Given the description of an element on the screen output the (x, y) to click on. 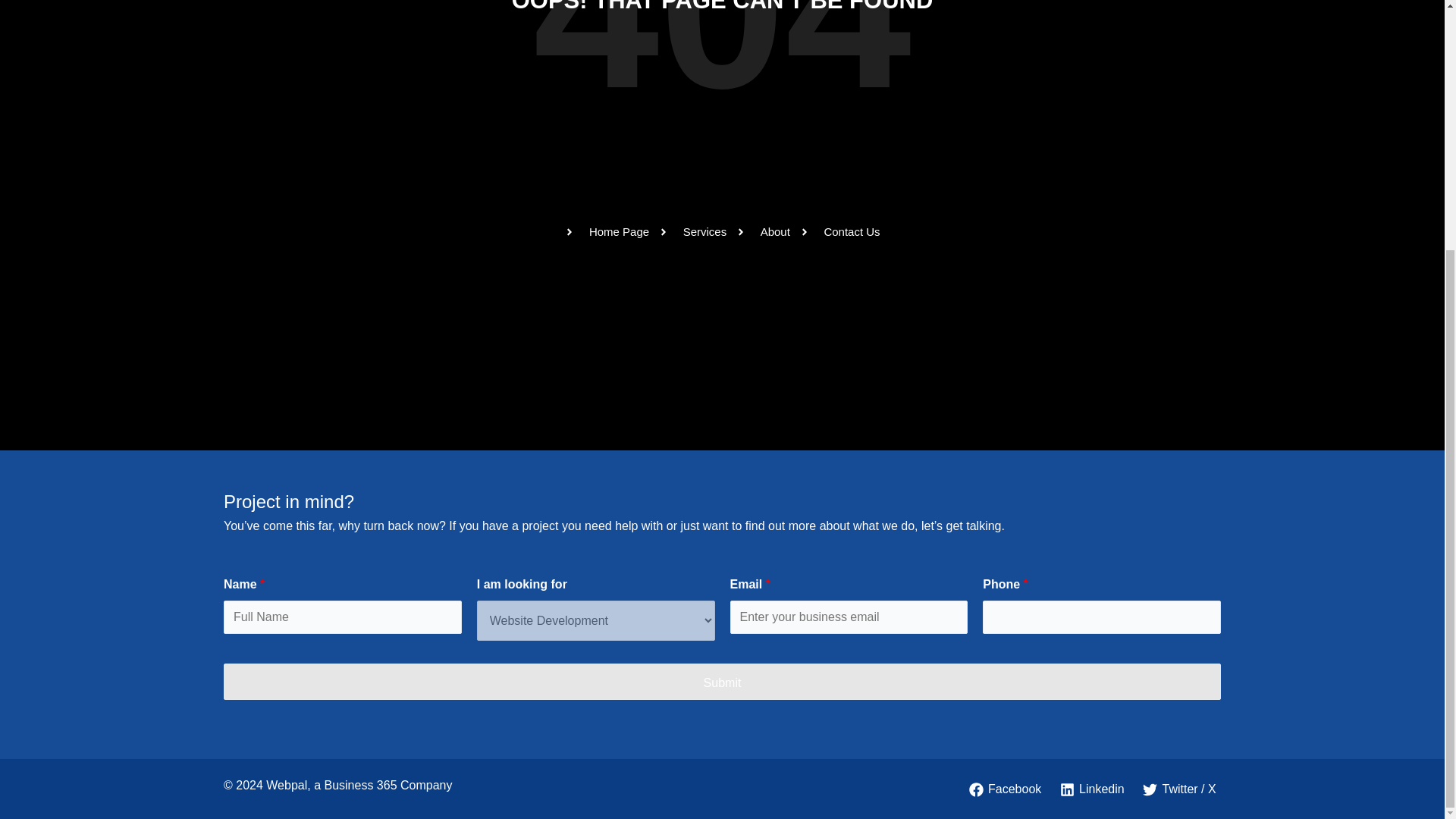
Facebook (1004, 789)
Contact Us (839, 231)
Services (692, 231)
About (762, 231)
Linkedin (1092, 789)
Submit (722, 681)
Home Page (606, 231)
